Given the description of an element on the screen output the (x, y) to click on. 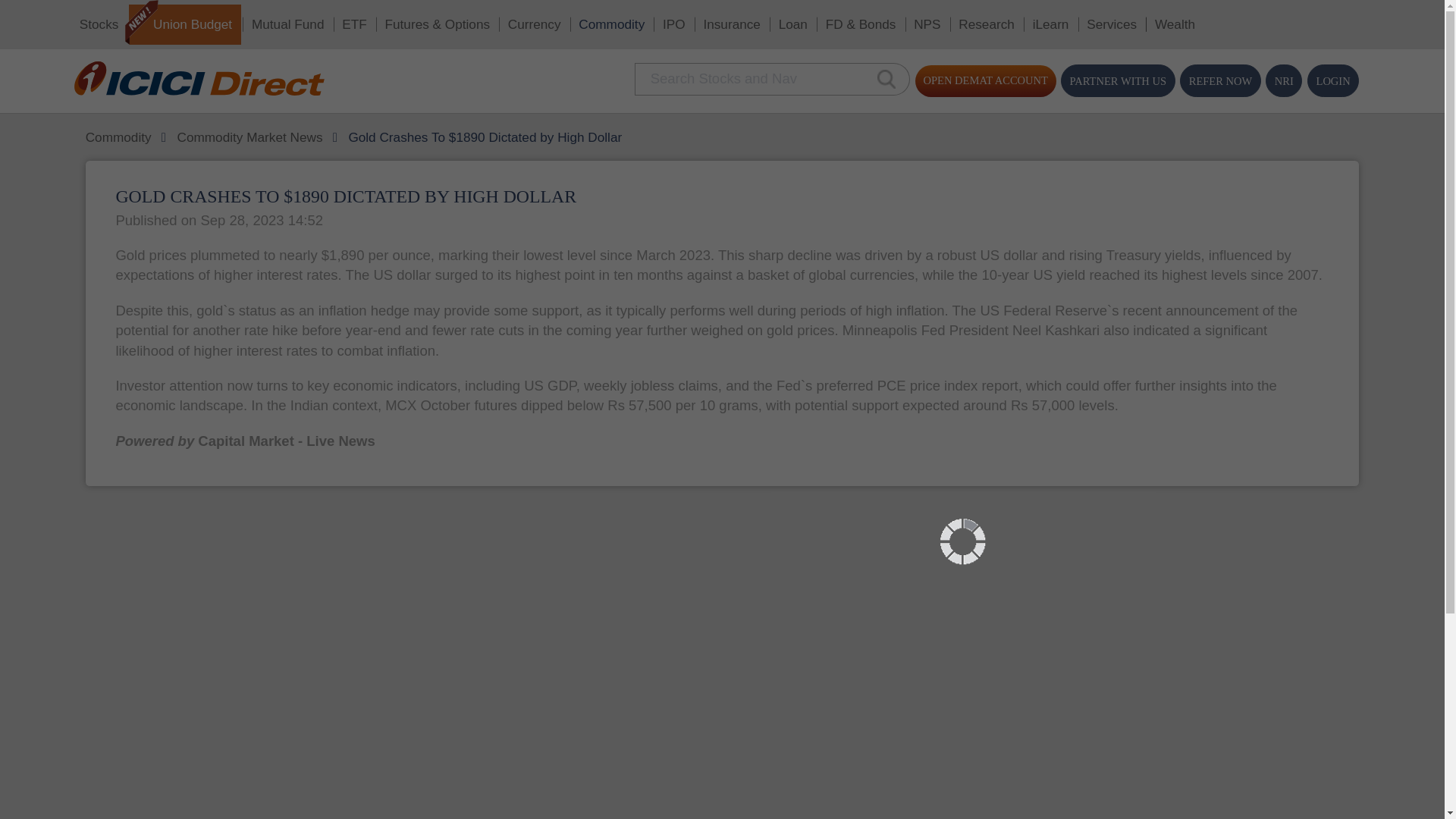
Currency (403, 19)
Stocks (74, 19)
ETF (267, 19)
Mutual Fund (217, 19)
Union Budget (139, 18)
